Given the description of an element on the screen output the (x, y) to click on. 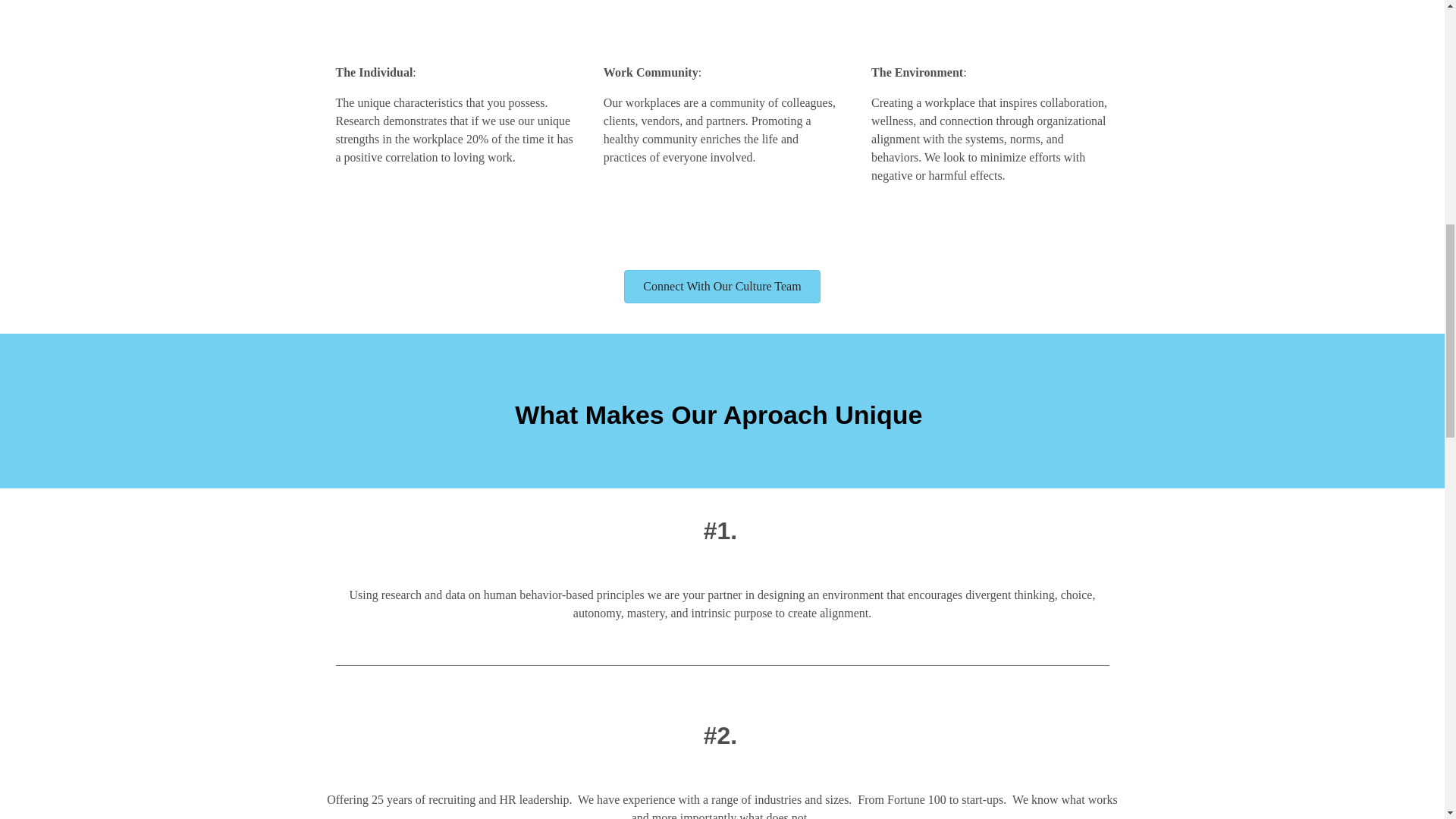
Connect With Our Culture Team (721, 286)
